Given the description of an element on the screen output the (x, y) to click on. 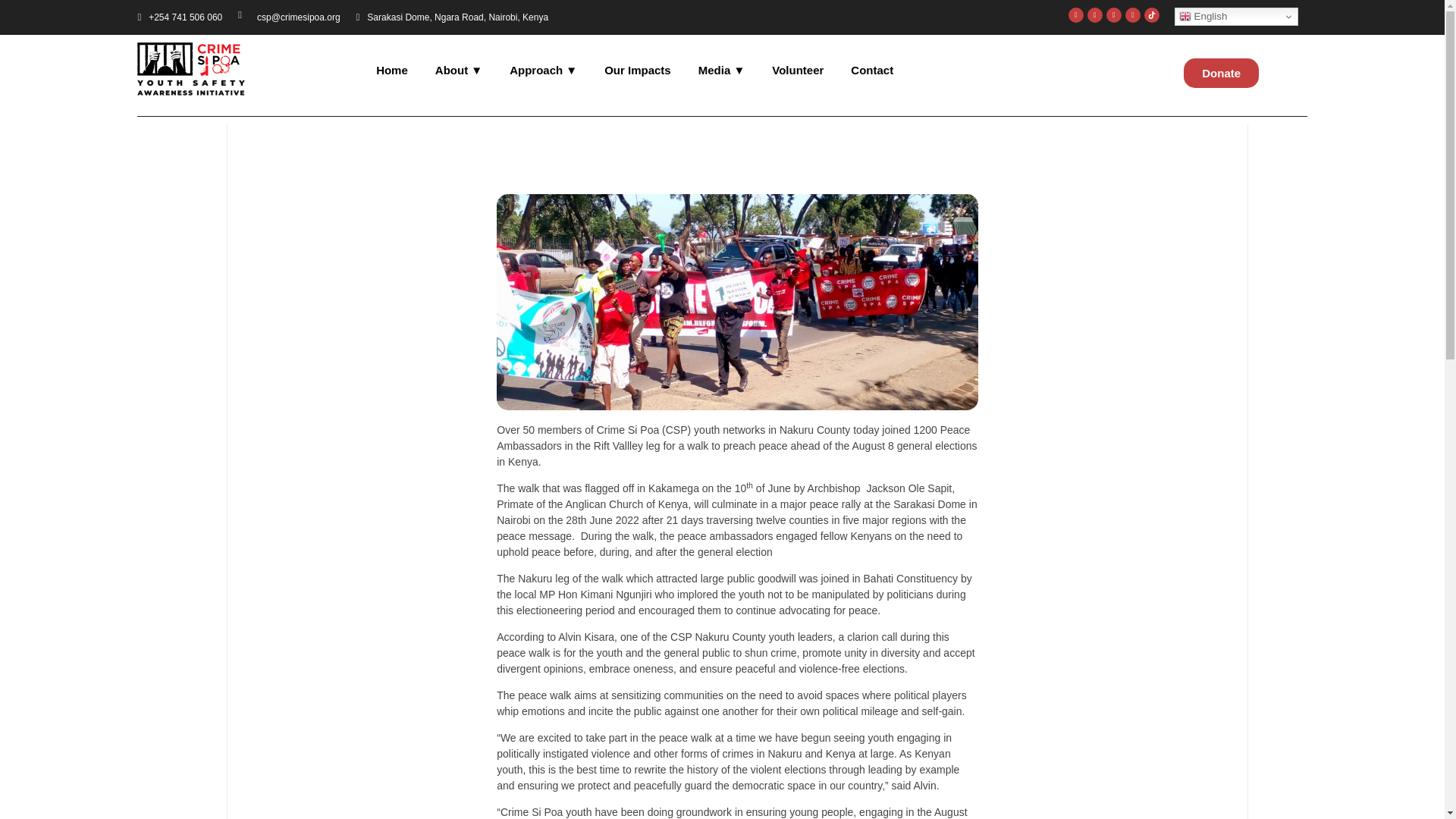
Crime Si Poa (192, 104)
Volunteer (797, 69)
English (1236, 16)
Crime Si Poa (190, 68)
Contact (865, 69)
Home (392, 69)
Donate (1221, 72)
Crime Si Poa (192, 104)
Our Impacts (637, 69)
